Given the description of an element on the screen output the (x, y) to click on. 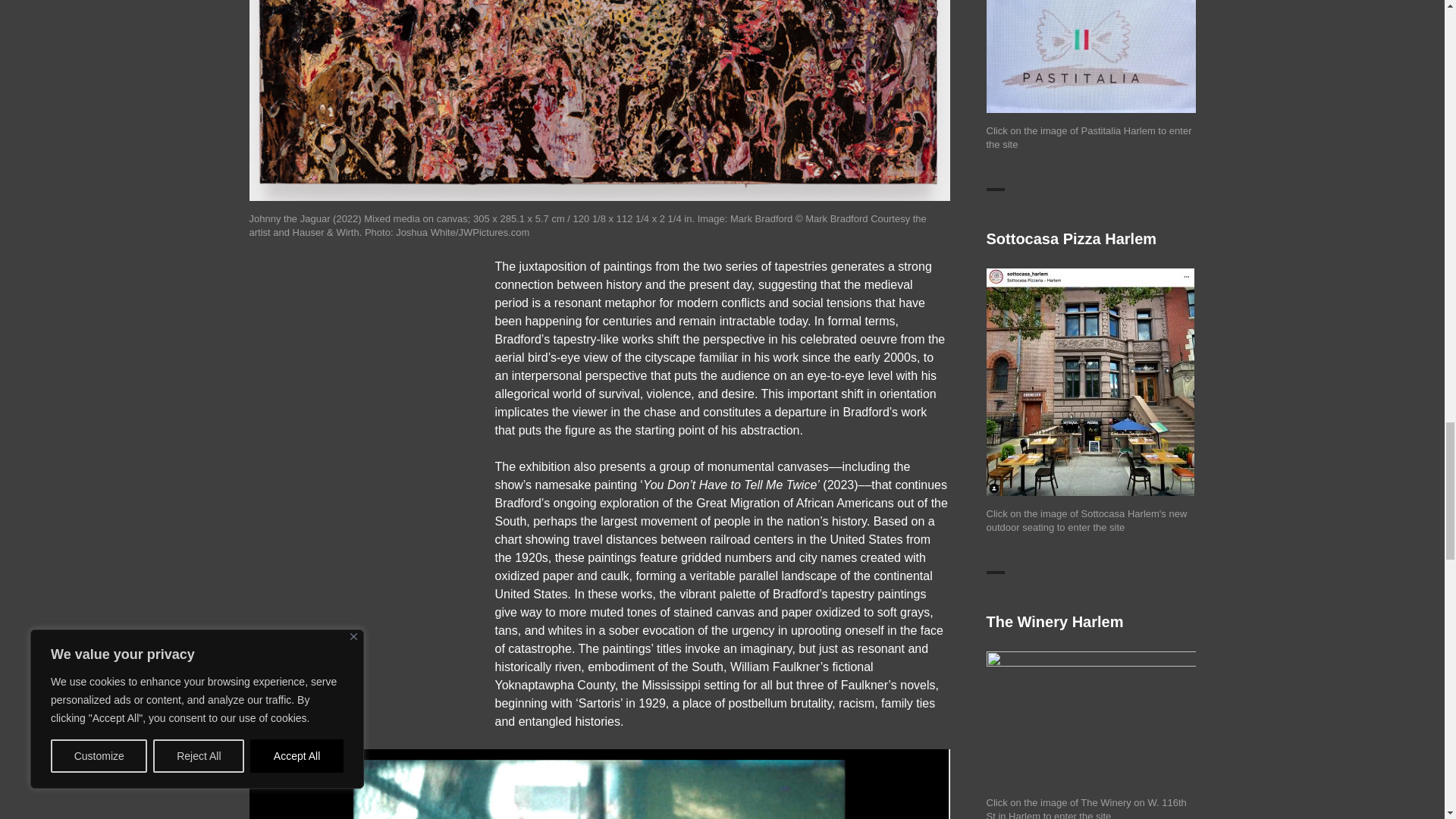
Pastitalia Harlem (1090, 56)
The Winery Harlem (1090, 717)
